Given the description of an element on the screen output the (x, y) to click on. 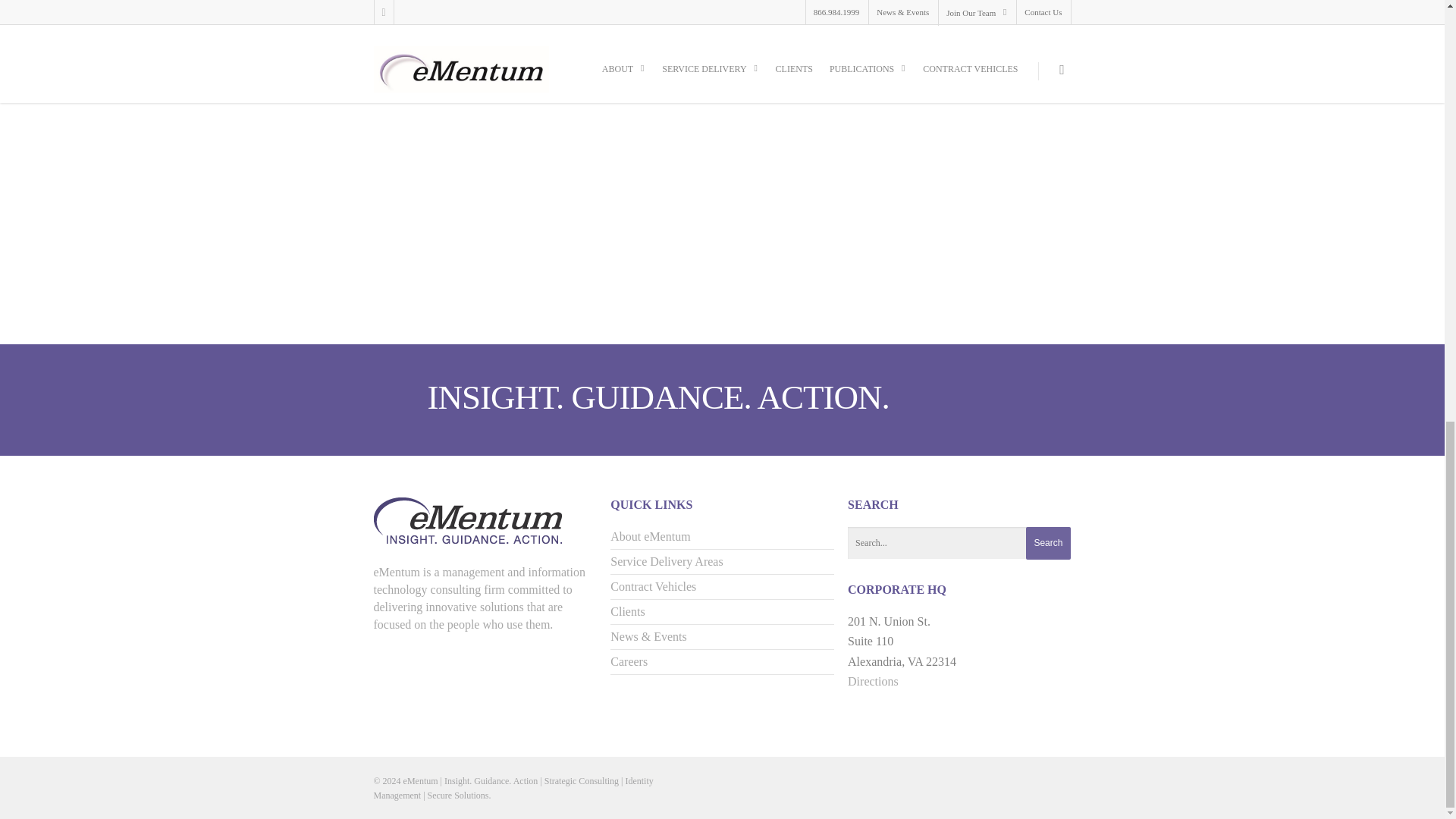
Search (1048, 543)
Search for: (958, 543)
Search (1048, 543)
